Given the description of an element on the screen output the (x, y) to click on. 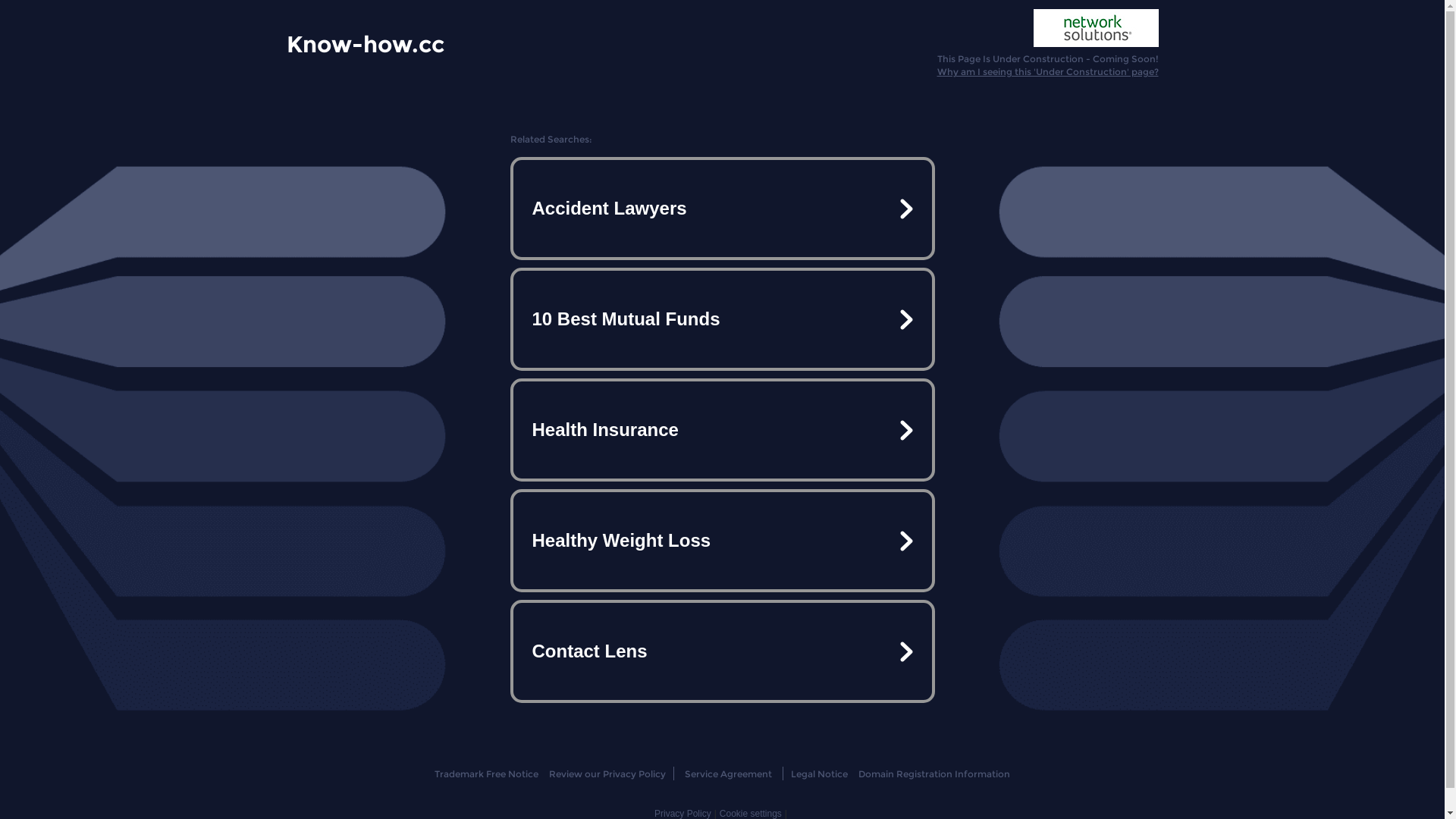
Domain Registration Information Element type: text (934, 773)
Healthy Weight Loss Element type: text (721, 540)
Know-how.cc Element type: text (365, 43)
Trademark Free Notice Element type: text (486, 773)
Accident Lawyers Element type: text (721, 208)
Legal Notice Element type: text (818, 773)
Health Insurance Element type: text (721, 429)
Service Agreement Element type: text (727, 773)
Contact Lens Element type: text (721, 650)
10 Best Mutual Funds Element type: text (721, 318)
Review our Privacy Policy Element type: text (607, 773)
Why am I seeing this 'Under Construction' page? Element type: text (1047, 71)
